Given the description of an element on the screen output the (x, y) to click on. 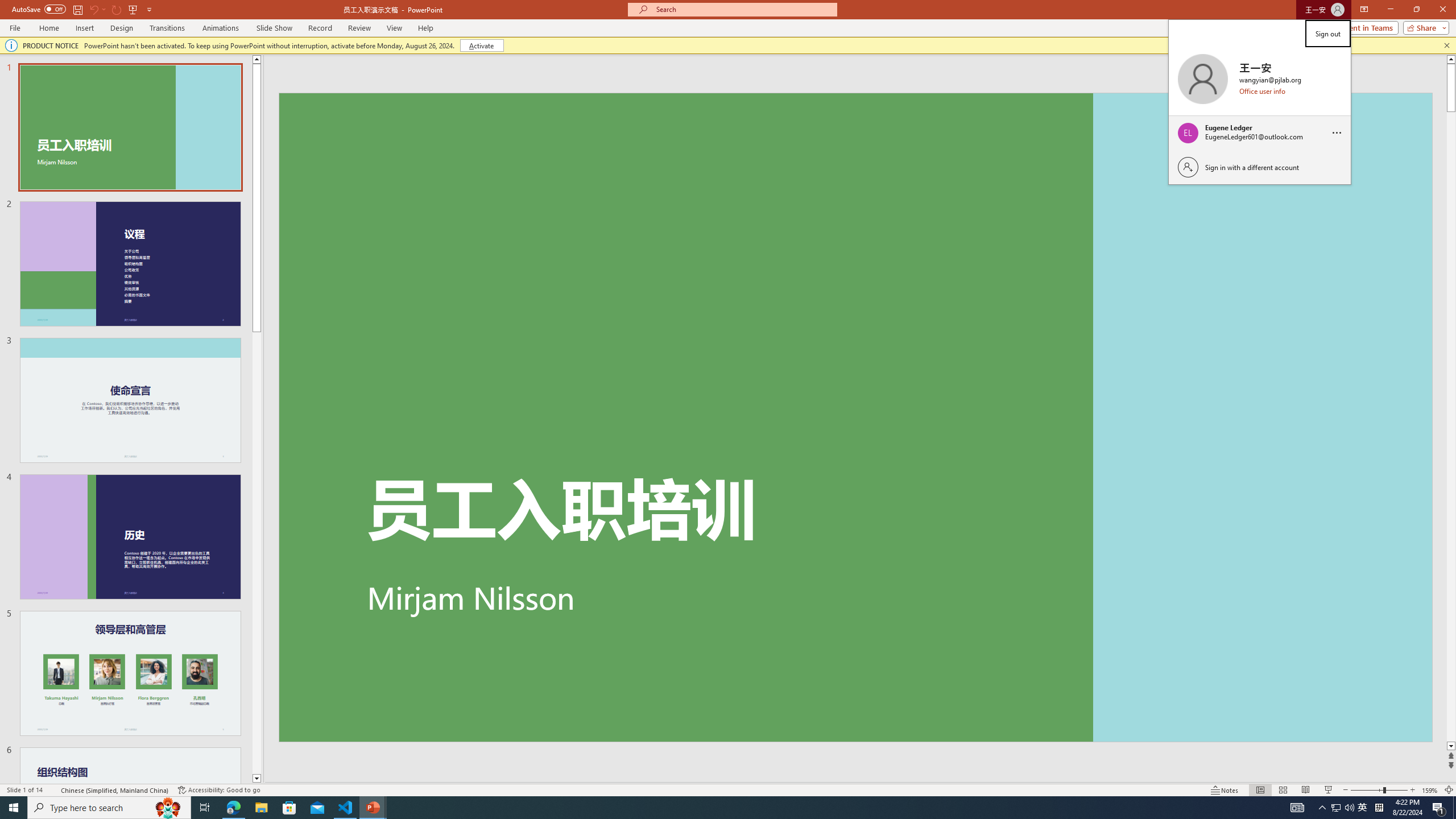
Spell Check  (52, 790)
